Given the description of an element on the screen output the (x, y) to click on. 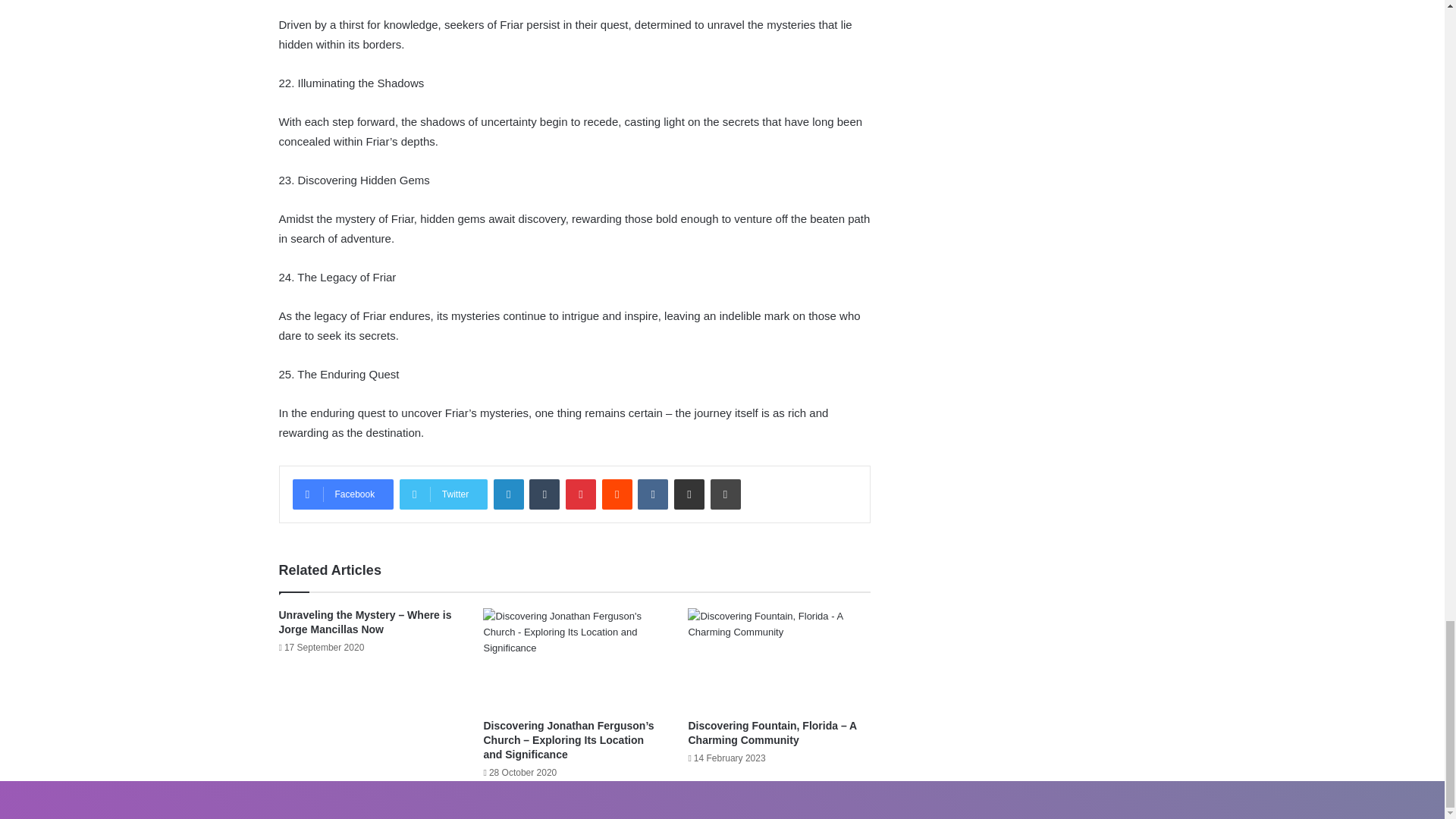
LinkedIn (508, 494)
Reddit (616, 494)
Reddit (616, 494)
Twitter (442, 494)
Twitter (442, 494)
Print (725, 494)
Print (725, 494)
Tumblr (544, 494)
Facebook (343, 494)
Pinterest (580, 494)
